Given the description of an element on the screen output the (x, y) to click on. 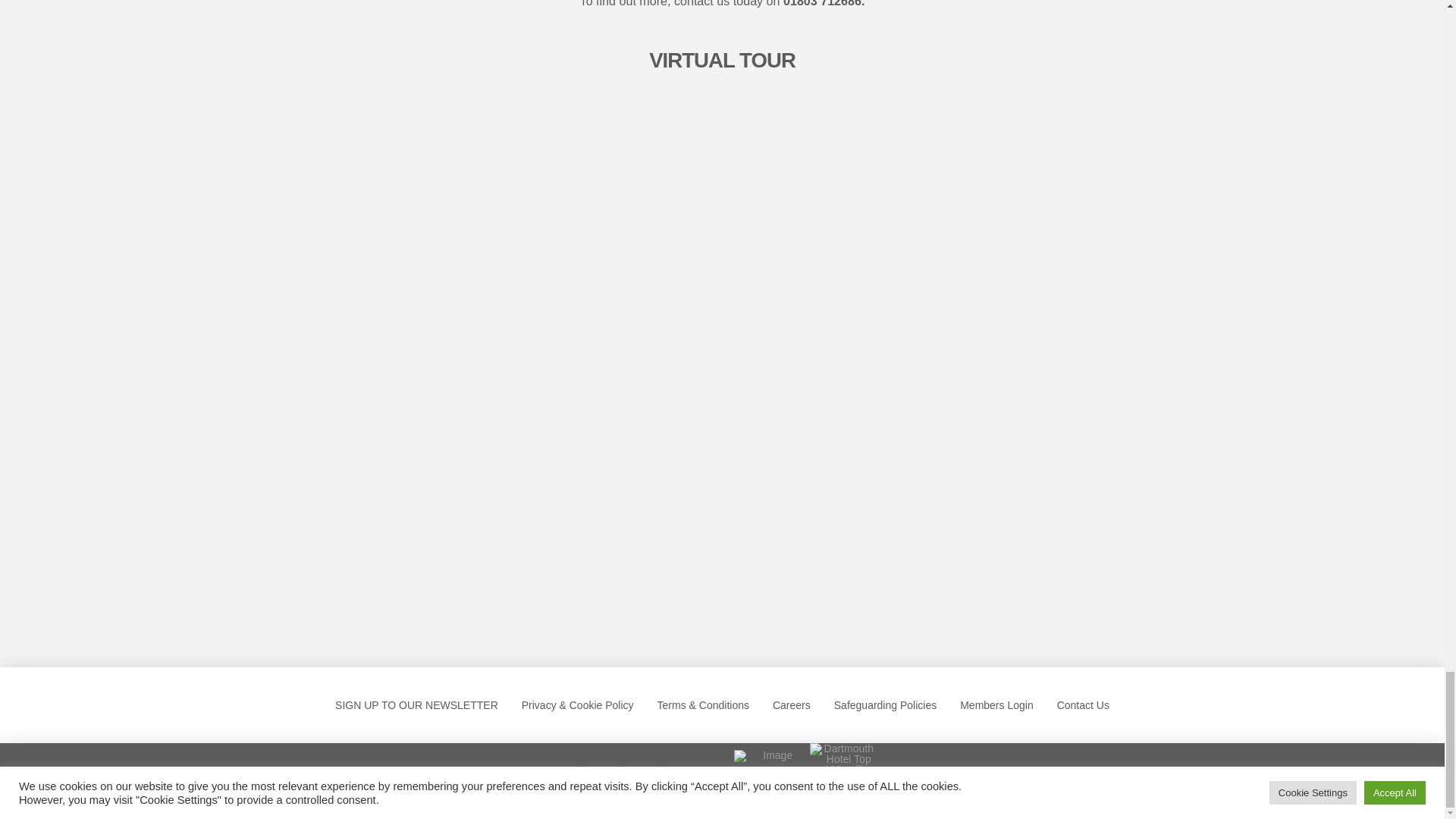
Contact Us (1083, 704)
Members Login (997, 704)
Safeguarding Policies (884, 704)
SIGN UP TO OUR NEWSLETTER (417, 704)
Careers (791, 704)
